Given the description of an element on the screen output the (x, y) to click on. 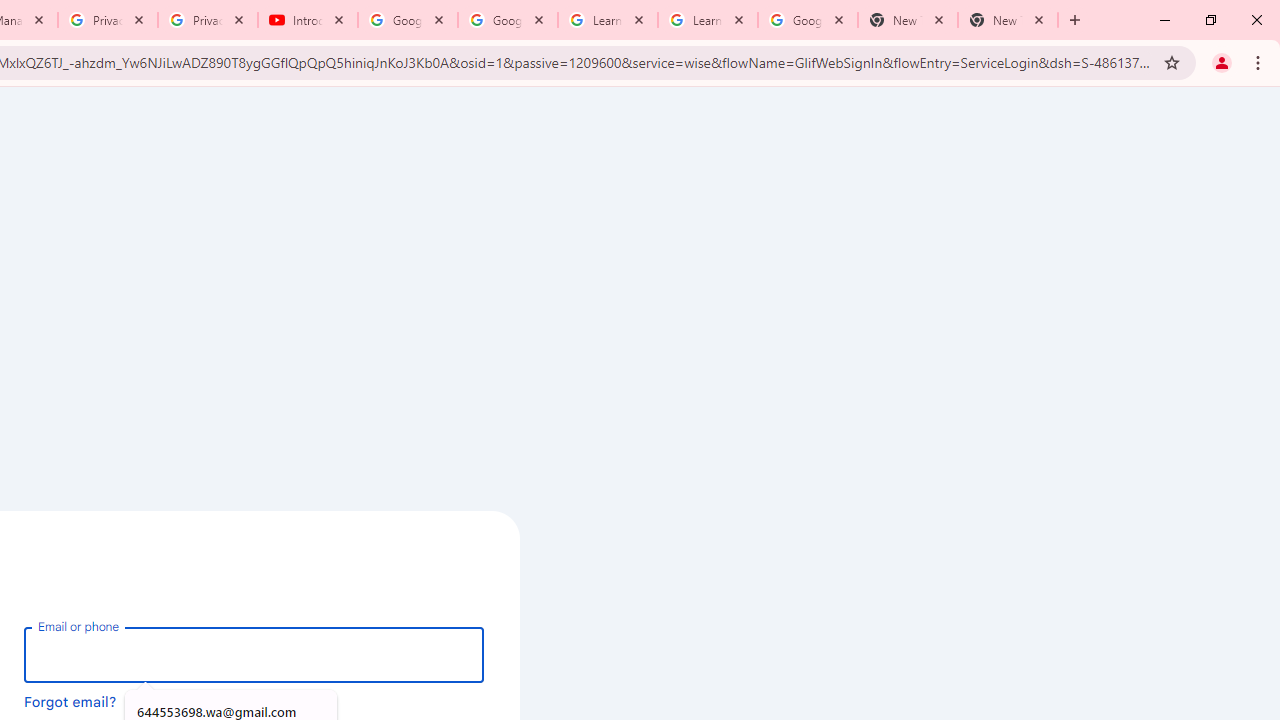
Introduction | Google Privacy Policy - YouTube (308, 20)
Email or phone (253, 654)
Forgot email? (70, 701)
New Tab (1007, 20)
Google Account (807, 20)
New Tab (907, 20)
